Given the description of an element on the screen output the (x, y) to click on. 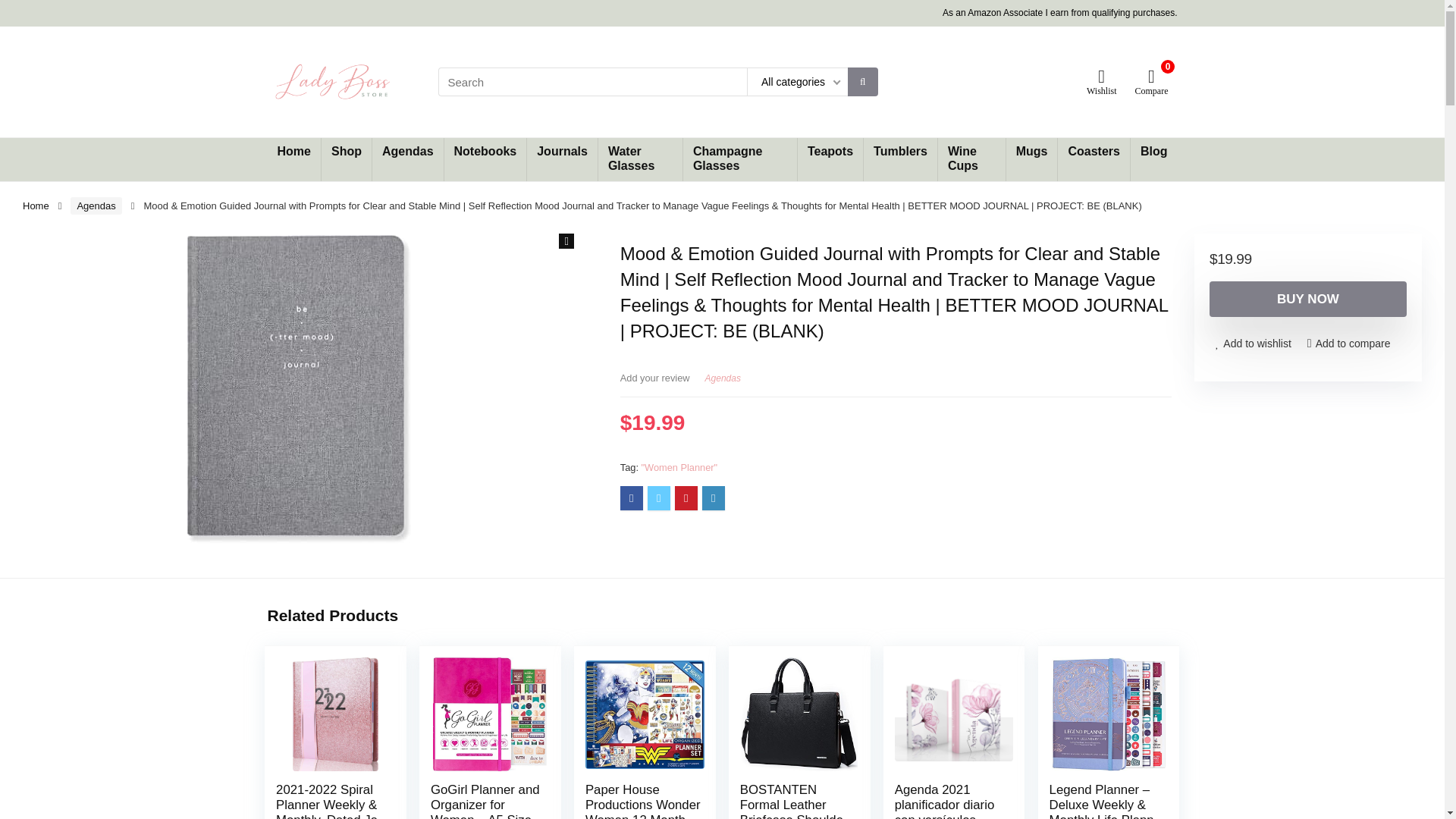
Home (36, 205)
Mugs (1032, 152)
"Women Planner" (679, 467)
Agendas (408, 152)
Water Glasses (640, 159)
Shop (346, 152)
Home (293, 152)
Champagne Glasses (739, 159)
Journals (561, 152)
Wine Cups (971, 159)
